Given the description of an element on the screen output the (x, y) to click on. 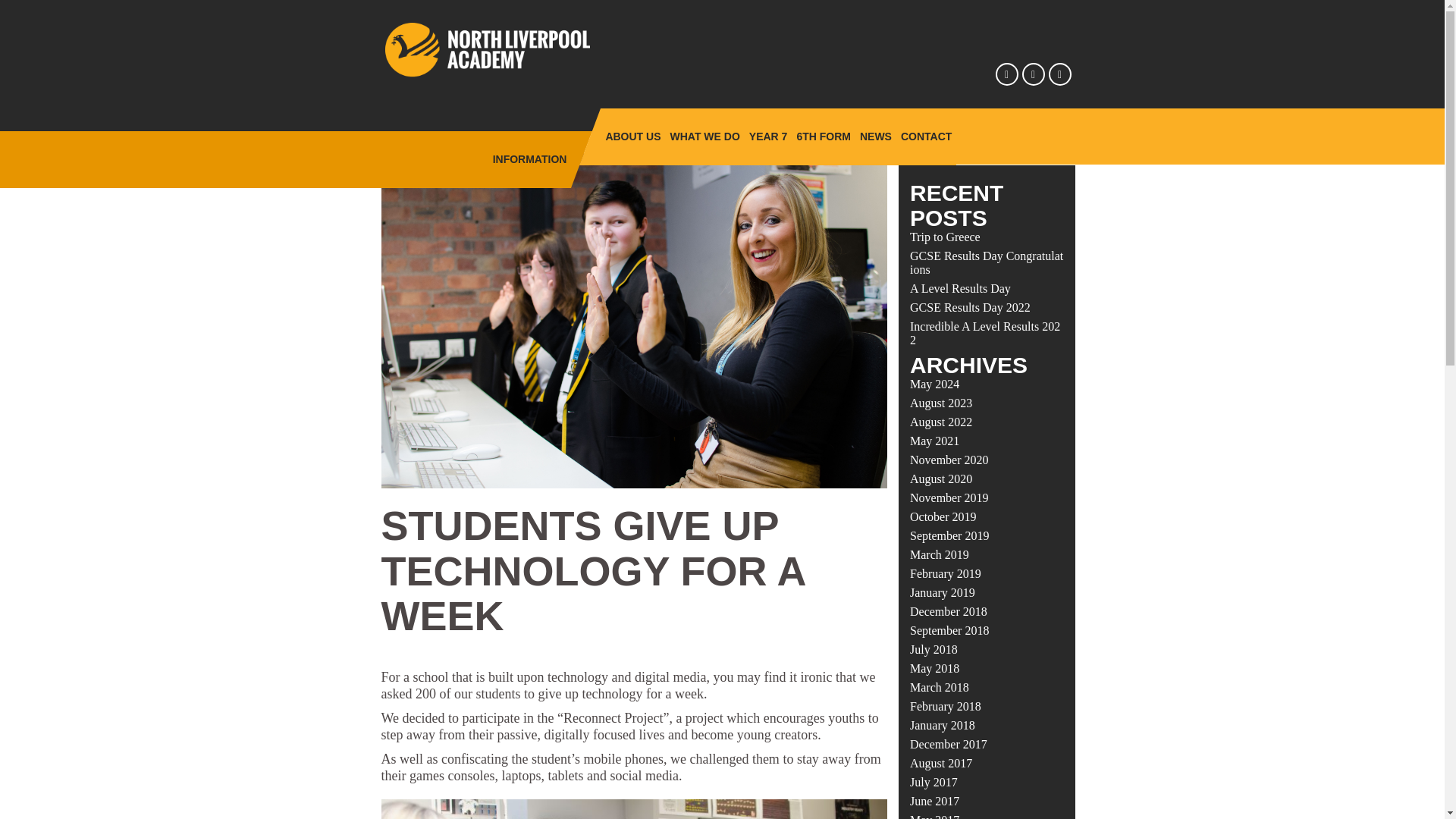
WHAT WE DO (704, 136)
ABOUT US (632, 136)
INFORMATION (529, 159)
